Given the description of an element on the screen output the (x, y) to click on. 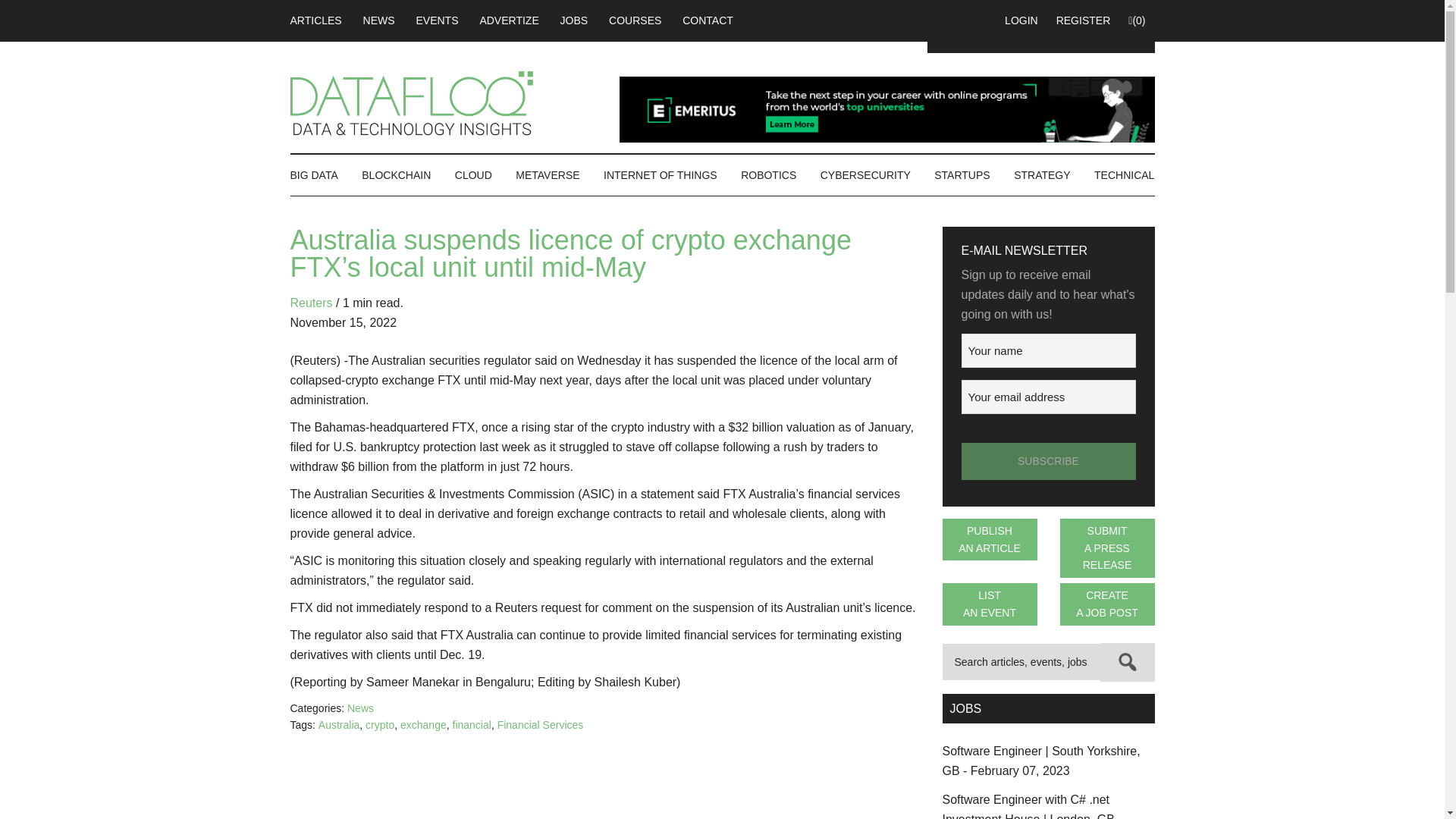
COURSES (634, 20)
Subscribe (1047, 461)
CONTACT (707, 20)
BIG DATA (317, 174)
BLOCKCHAIN (395, 174)
FACEBOOK (896, 19)
ARTICLES (319, 20)
REGISTER (1082, 20)
NEWS (378, 20)
